Given the description of an element on the screen output the (x, y) to click on. 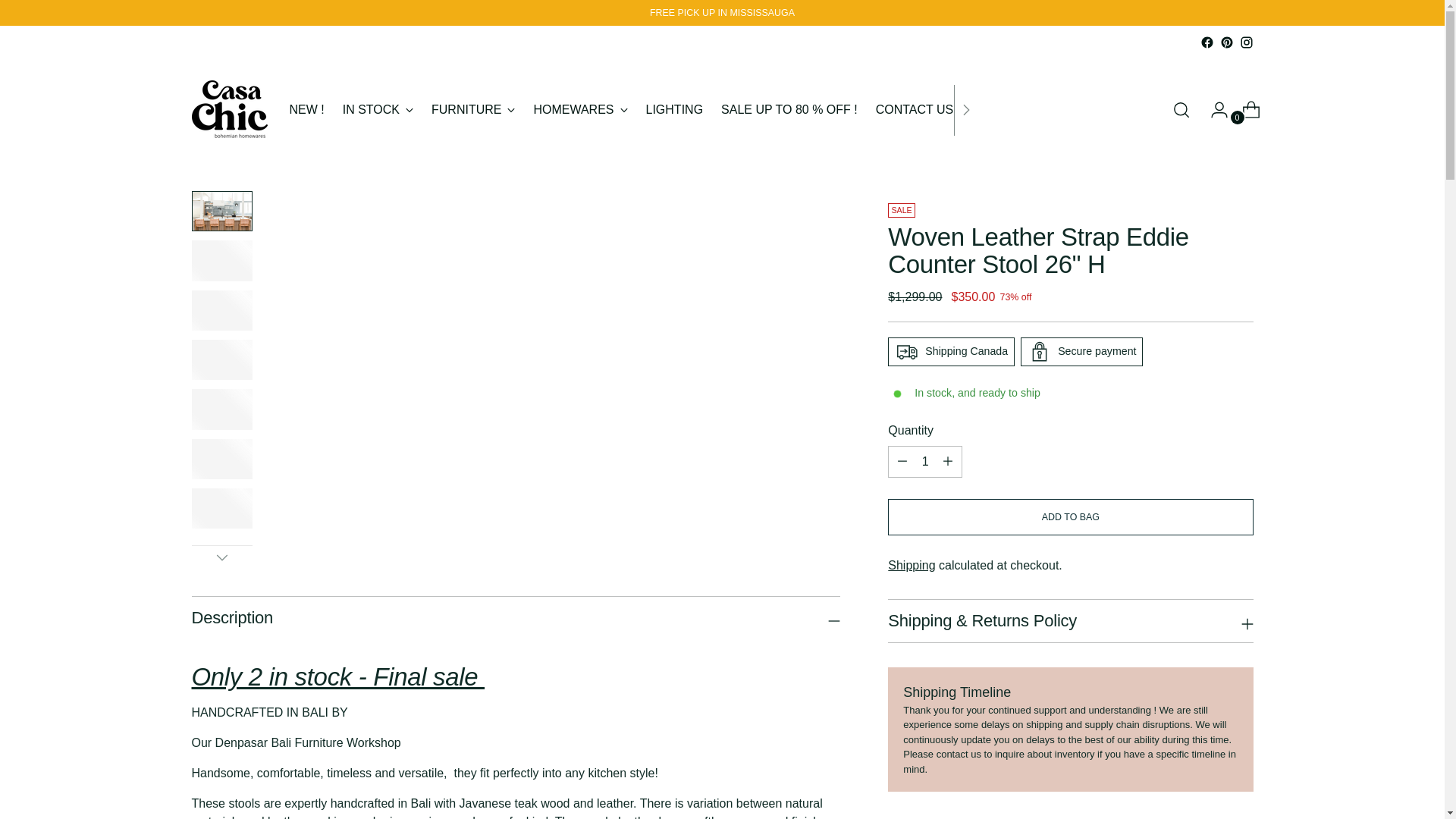
1 (925, 461)
FURNITURE (472, 109)
NEW ! (306, 109)
IN STOCK (377, 109)
Casachicstore on Pinterest (1226, 42)
Down (220, 557)
Casachicstore on Instagram (1245, 42)
Casachicstore on Facebook (1205, 42)
